Given the description of an element on the screen output the (x, y) to click on. 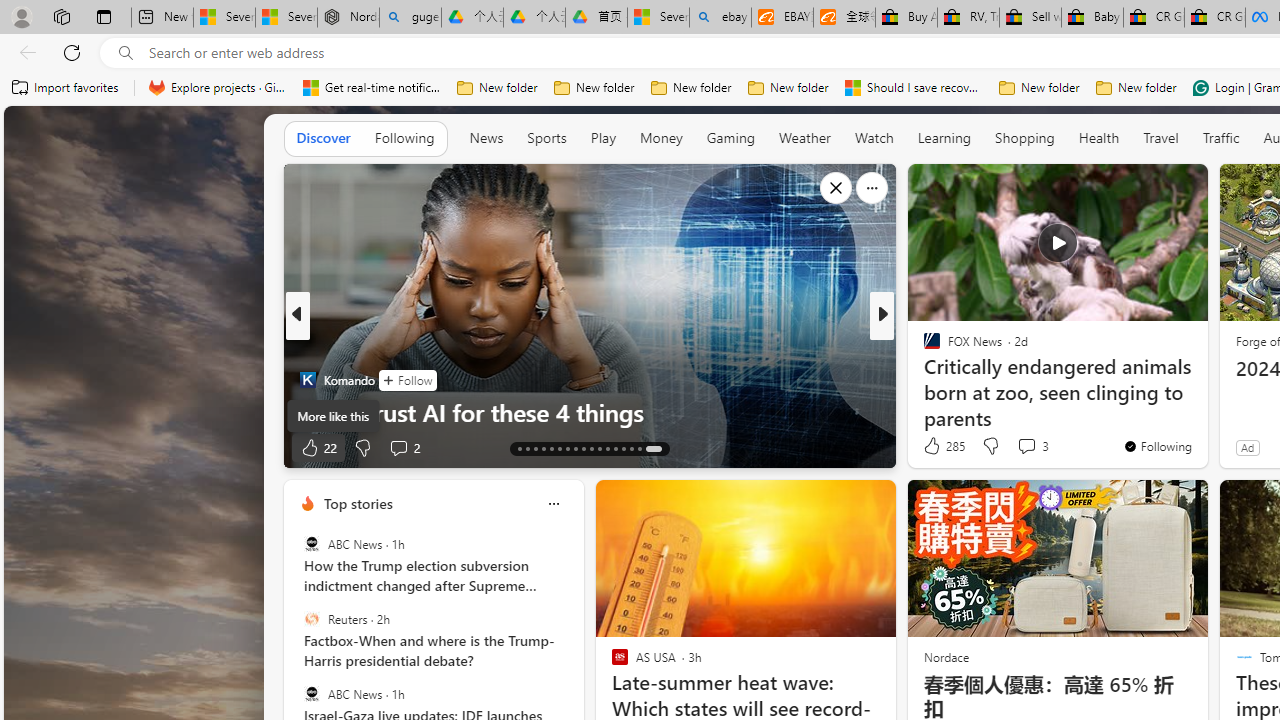
Follow (406, 380)
AutomationID: tab-13 (518, 448)
Gaming (730, 137)
Don't trust AI for these 4 things (589, 411)
Gaming (730, 138)
Baby Keepsakes & Announcements for sale | eBay (1092, 17)
AutomationID: tab-22 (591, 448)
Shopping (1025, 138)
Komando (307, 380)
Sell worldwide with eBay (1030, 17)
